Given the description of an element on the screen output the (x, y) to click on. 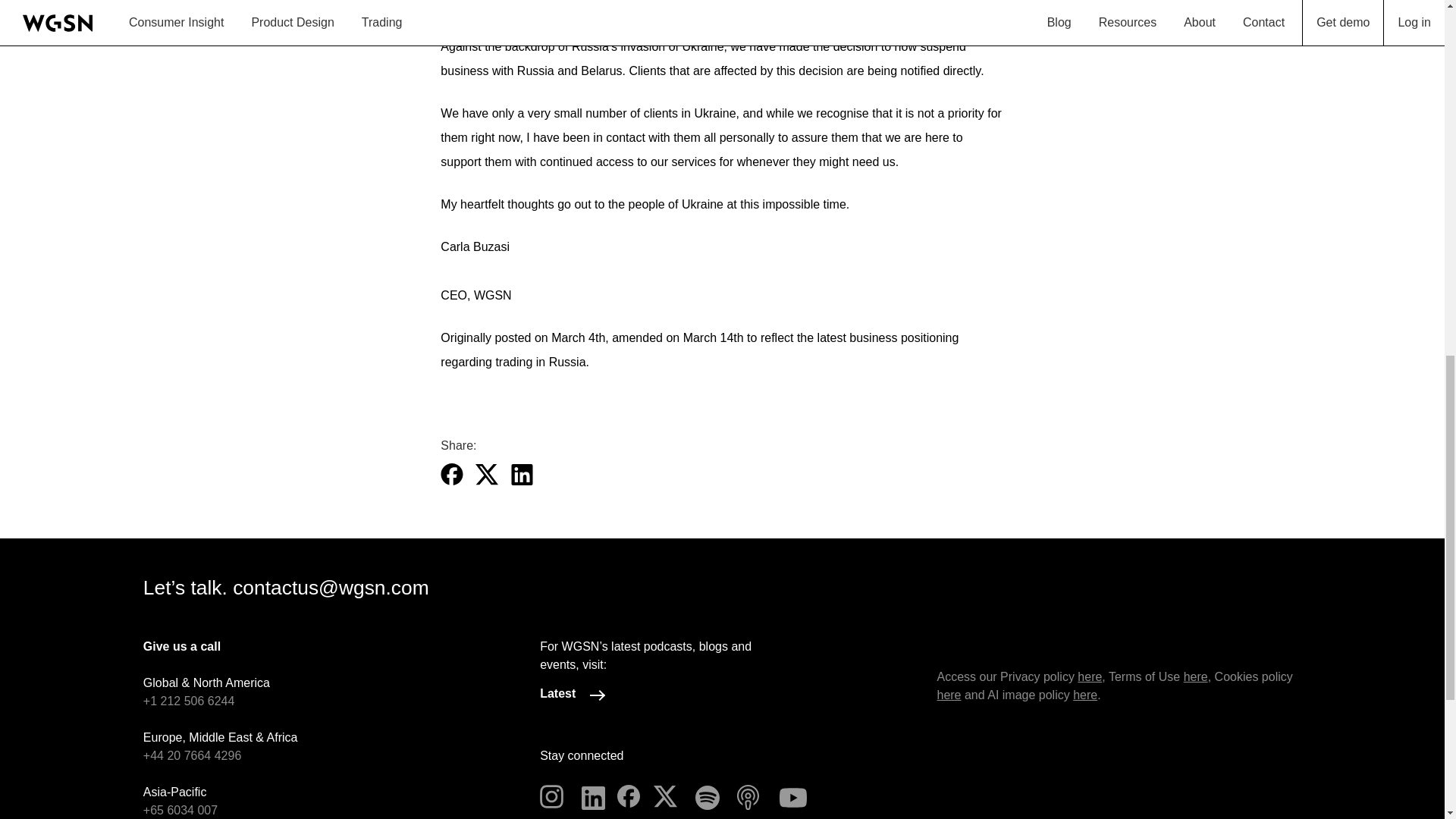
WGSN's latest podcasts, blogs and events (575, 695)
Apple Podcasts (749, 795)
WGSN's Cookies policy (948, 694)
LinkedIn (594, 795)
YouTube (793, 795)
Instagram (553, 795)
WGSN's Terms of Use (1195, 676)
Twitter (666, 795)
Facebook (630, 795)
WGSN's Privacy policy (1089, 676)
